Given the description of an element on the screen output the (x, y) to click on. 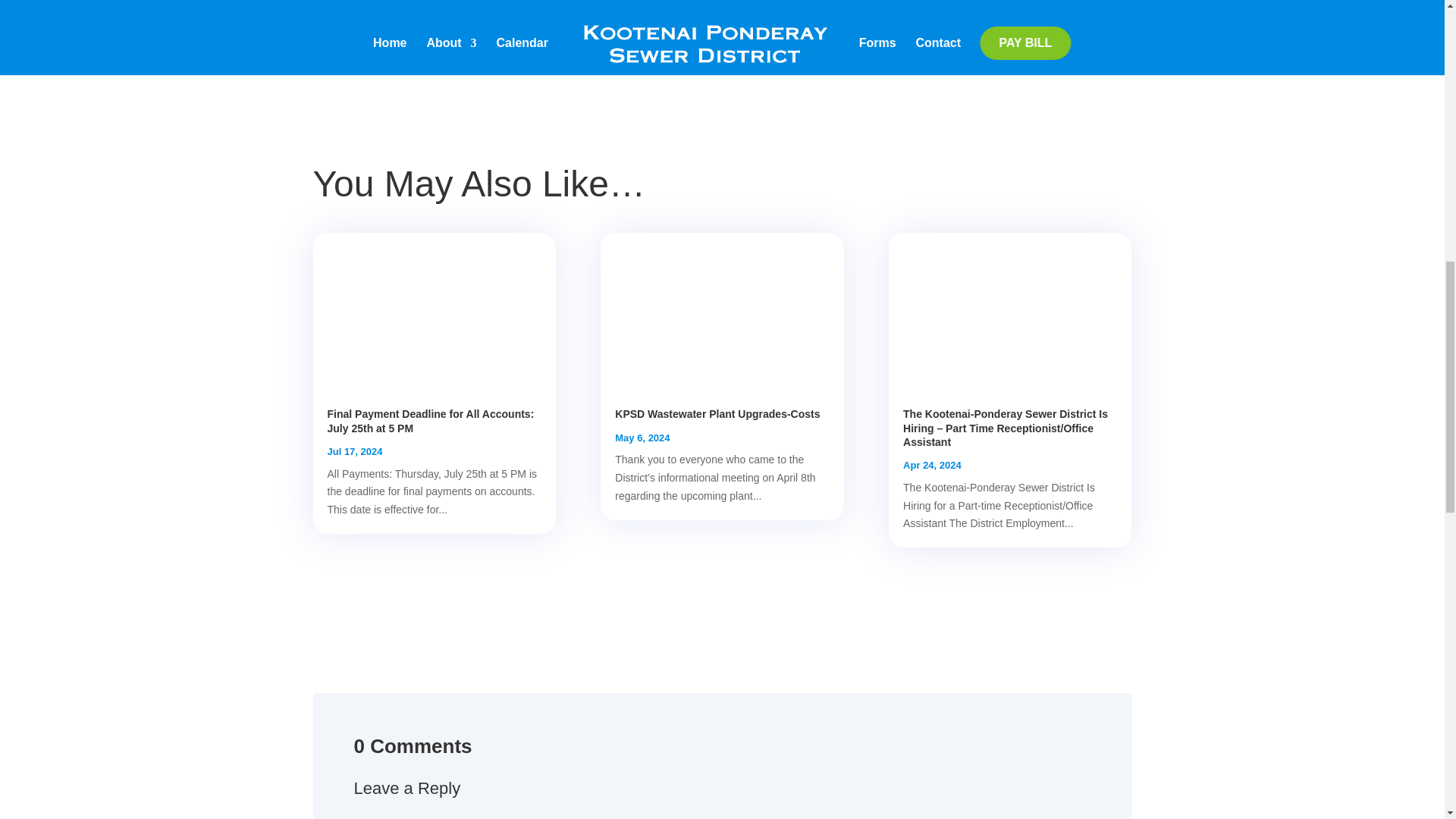
KPSD Wastewater Plant Upgrades-Costs (716, 413)
Final Payment Deadline for All Accounts: July 25th at 5 PM (430, 420)
Comment Form (721, 811)
